Given the description of an element on the screen output the (x, y) to click on. 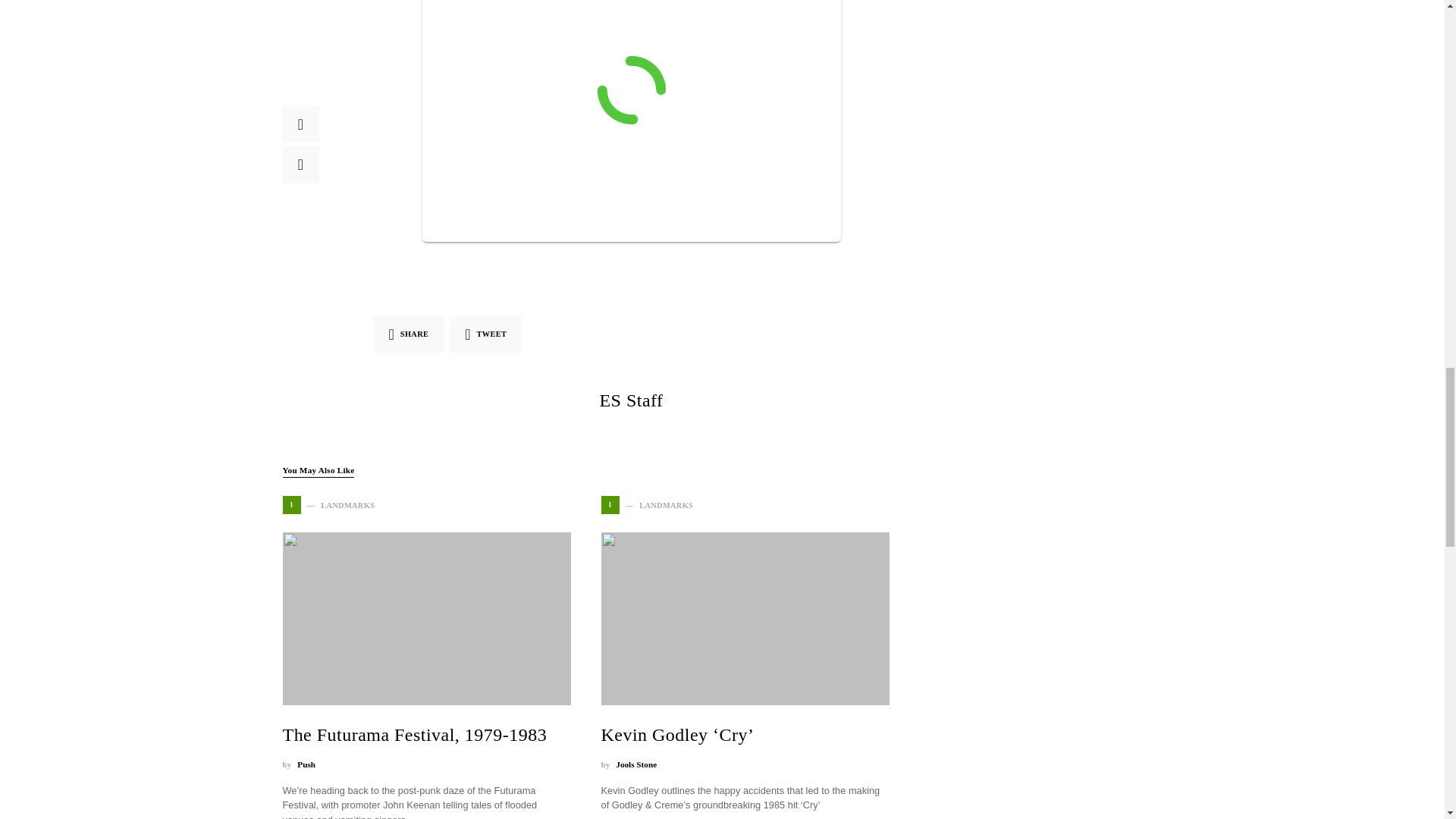
View all posts by Jools Stone (635, 764)
View all posts by Push (306, 764)
